Given the description of an element on the screen output the (x, y) to click on. 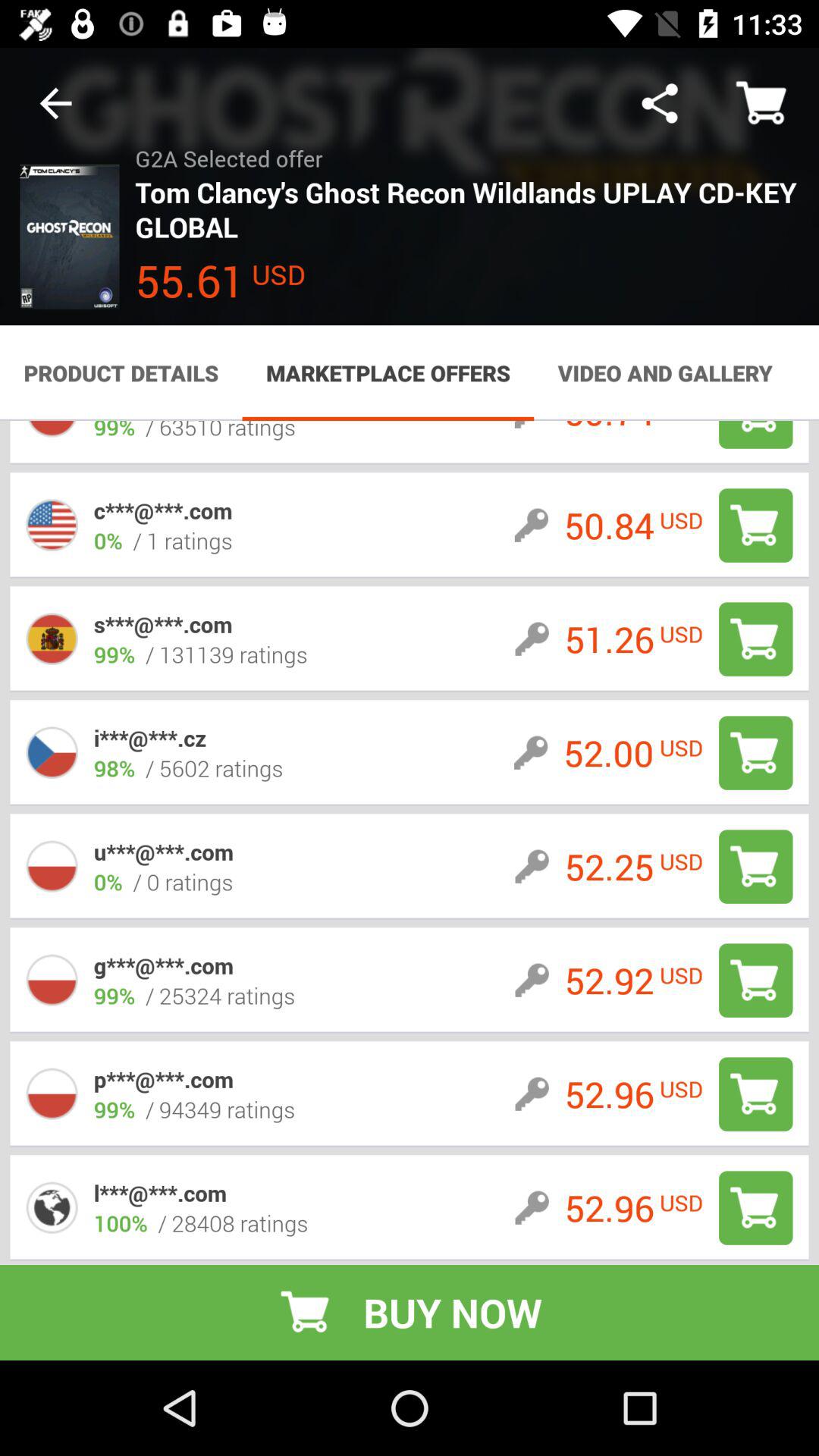
add the key to the cart (755, 639)
